Given the description of an element on the screen output the (x, y) to click on. 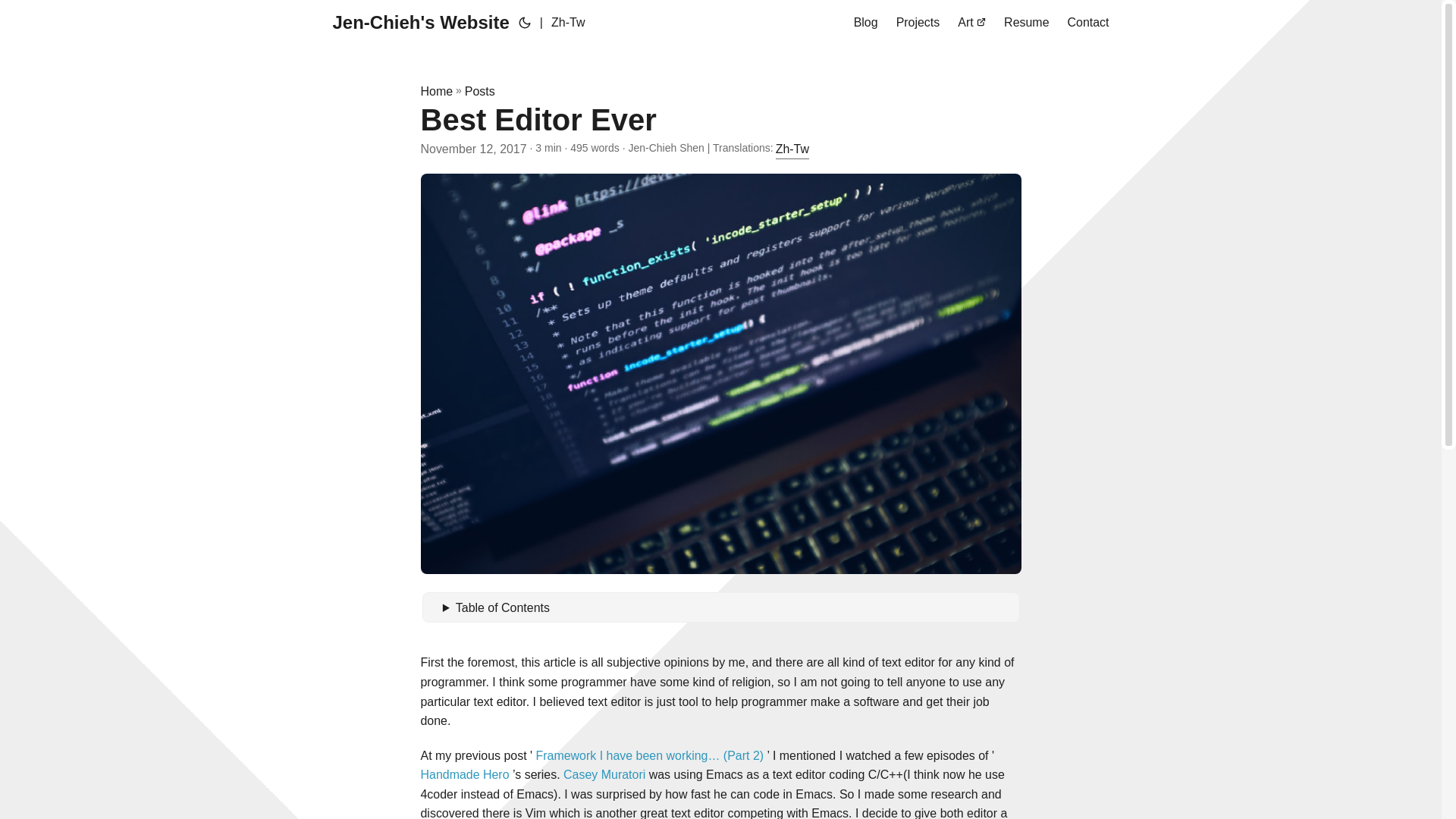
Resume (1026, 22)
Posts (479, 91)
Jen-Chieh's Website (419, 22)
Zh-Tw (792, 148)
Casey Muratori (604, 774)
Contact (1088, 22)
Handmade Hero (464, 774)
Home (436, 91)
Projects (918, 22)
Resume (1026, 22)
Contact (1088, 22)
Projects (918, 22)
